Given the description of an element on the screen output the (x, y) to click on. 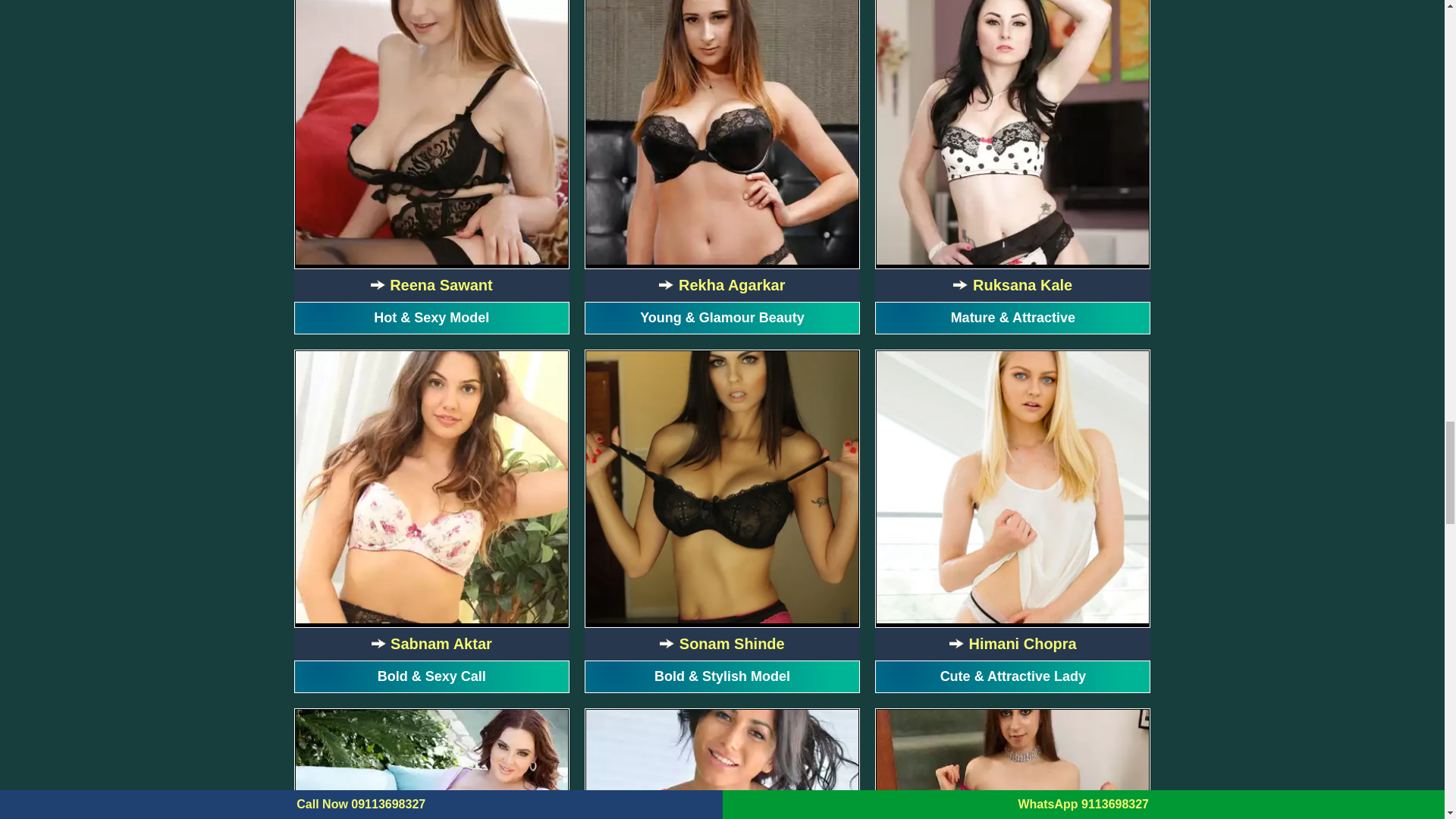
Electronic City Escorts Near Me (431, 764)
Electronic City Sexy Girls WhatsApp Number (1012, 132)
Electronic City Hosewife Escorts (431, 132)
BBW Escorts in Electronic City (722, 764)
Electronic City Marathi Call Girls (722, 487)
Cheap Rates Housewife Escorts in Electronic City (431, 487)
Russian Escorts Electronic City (722, 132)
Electronic City Independent Housewife Escorts (1012, 487)
